Given the description of an element on the screen output the (x, y) to click on. 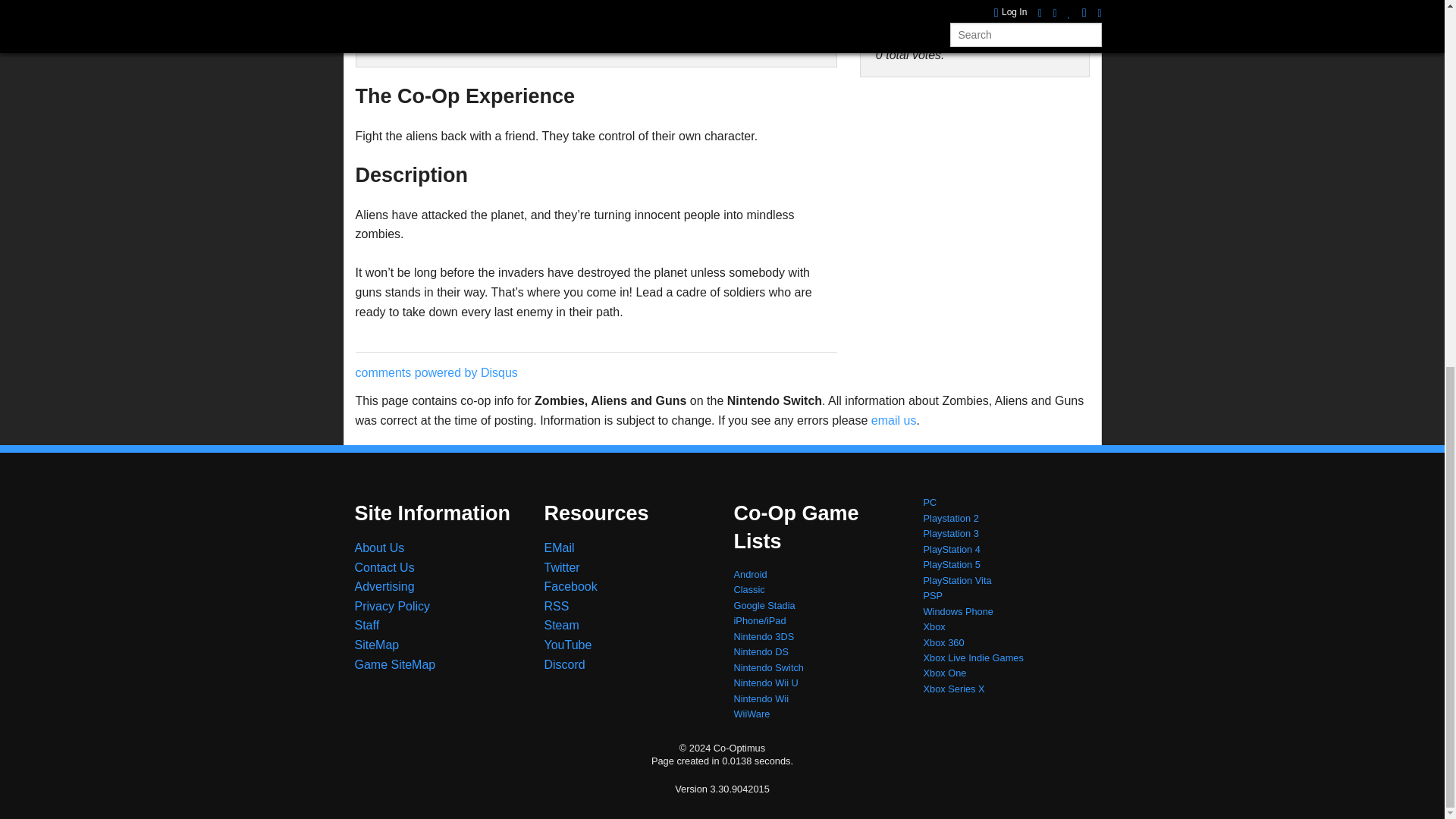
Advertising rates and traffic numbers. (384, 585)
Our current staff and bios. (367, 625)
Join our Steam Group! (561, 625)
comments powered by Disqus (435, 372)
